Given the description of an element on the screen output the (x, y) to click on. 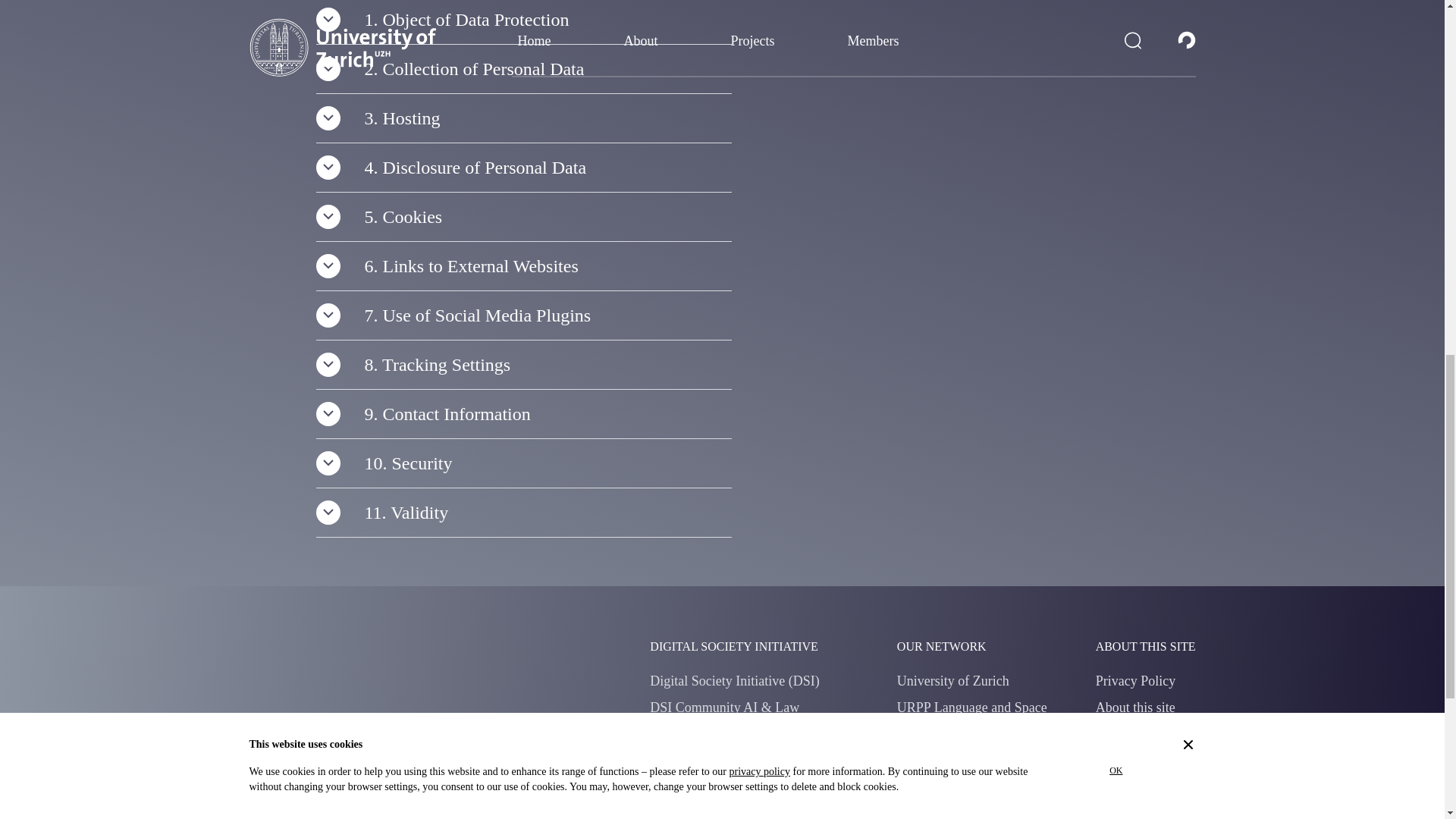
DSI Community Communication (740, 734)
